Given the description of an element on the screen output the (x, y) to click on. 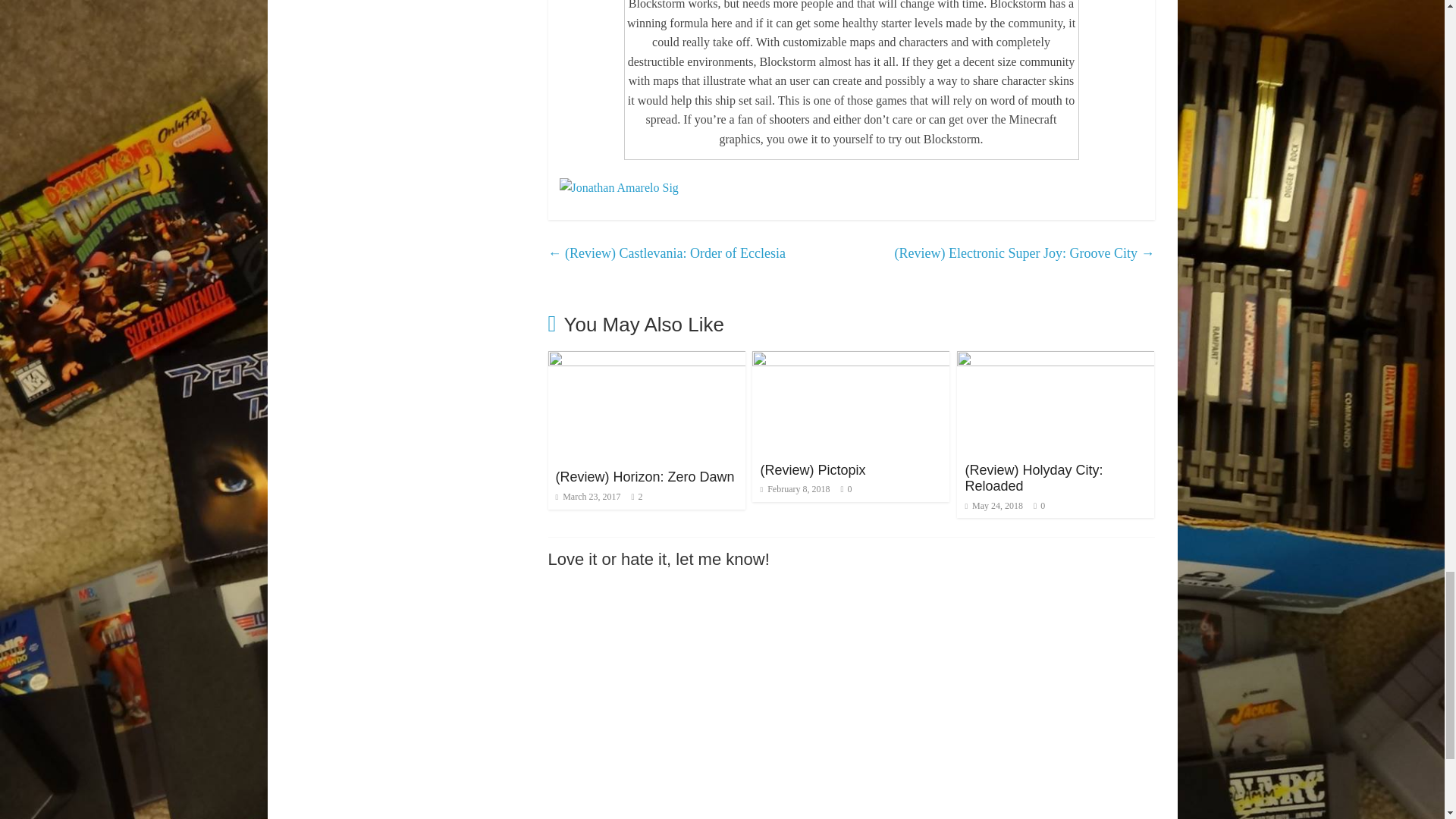
14:49 (588, 496)
